Given the description of an element on the screen output the (x, y) to click on. 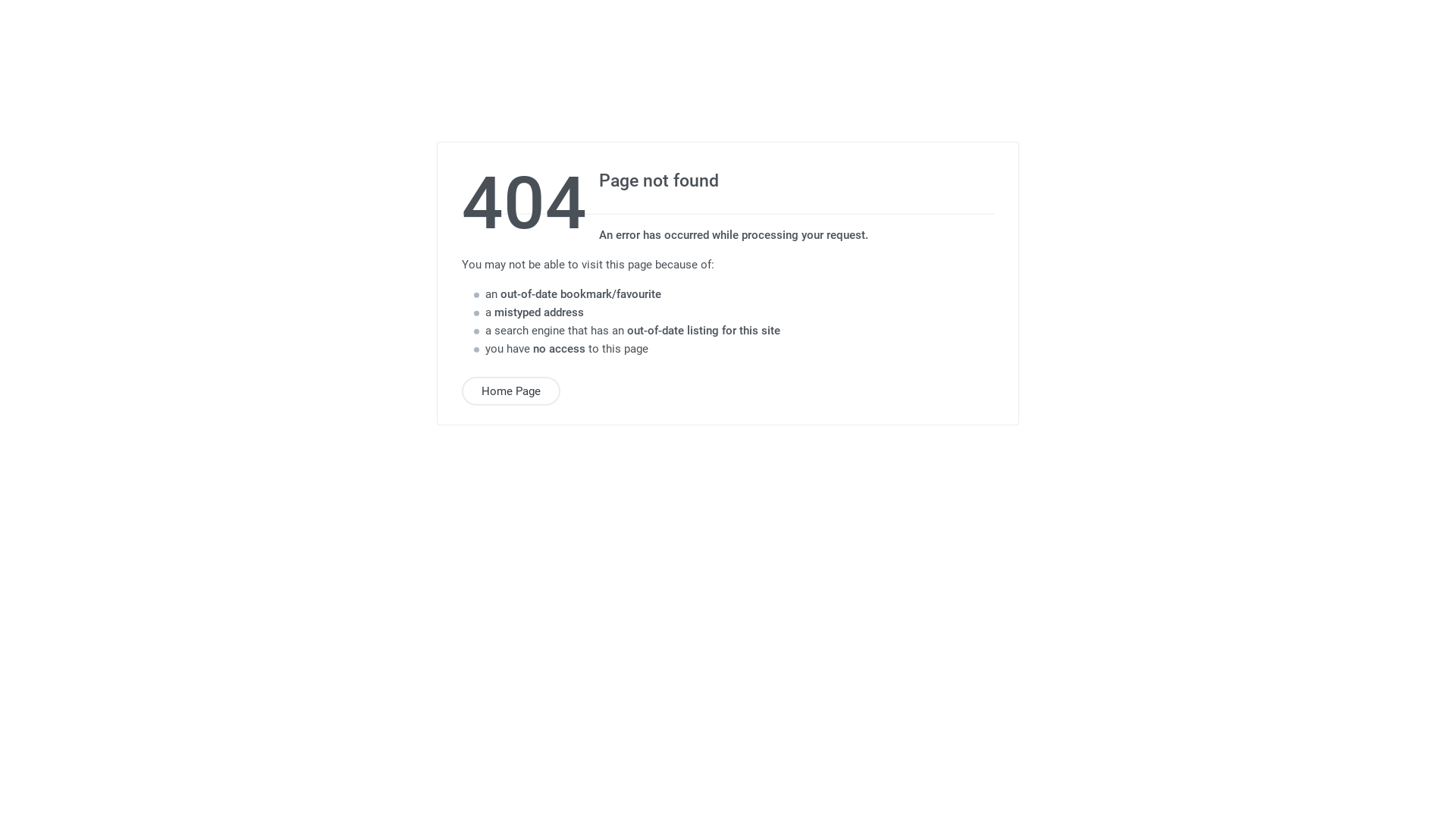
Home Page Element type: text (510, 390)
